Given the description of an element on the screen output the (x, y) to click on. 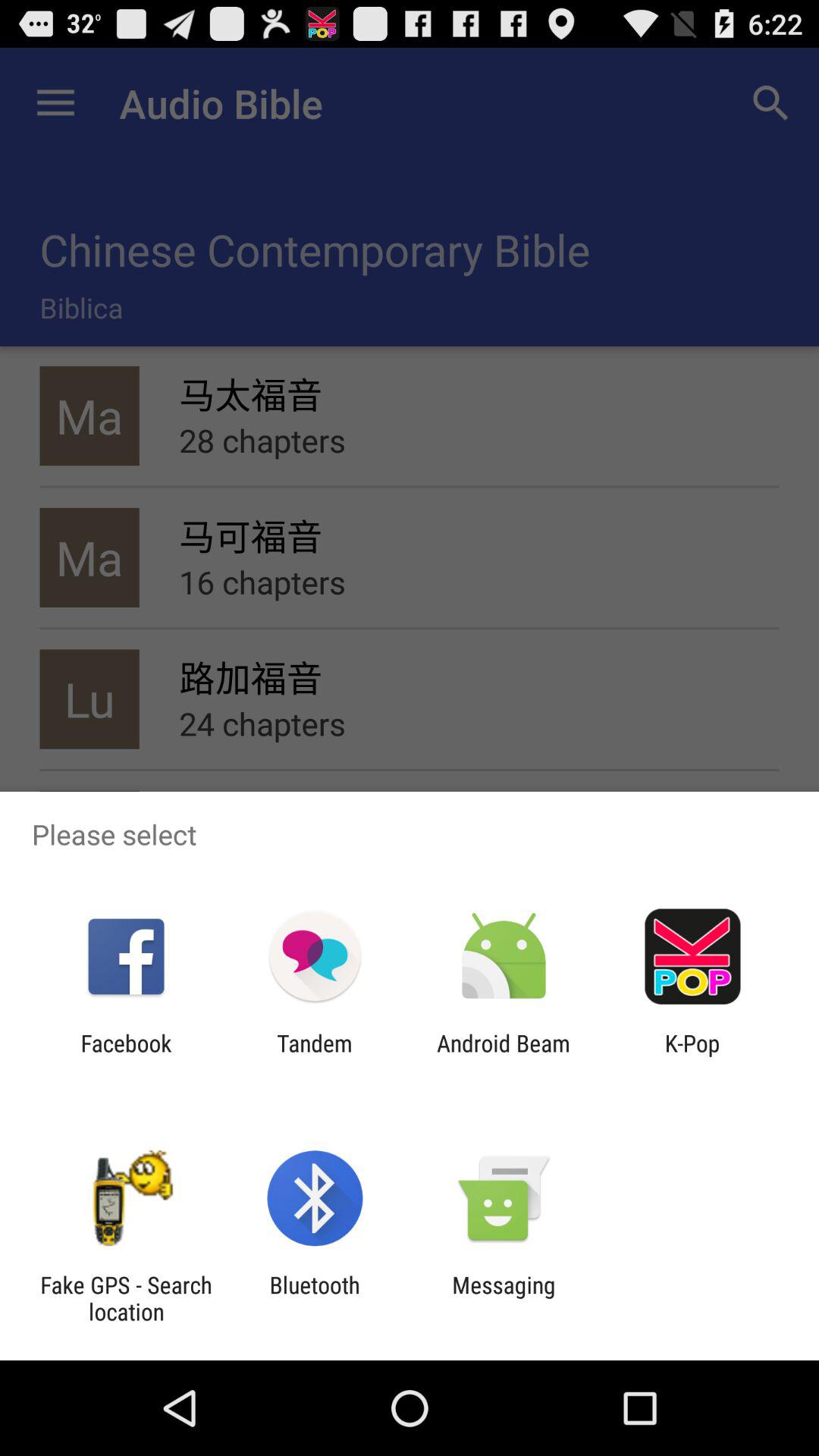
turn on the app to the left of the bluetooth app (125, 1298)
